Given the description of an element on the screen output the (x, y) to click on. 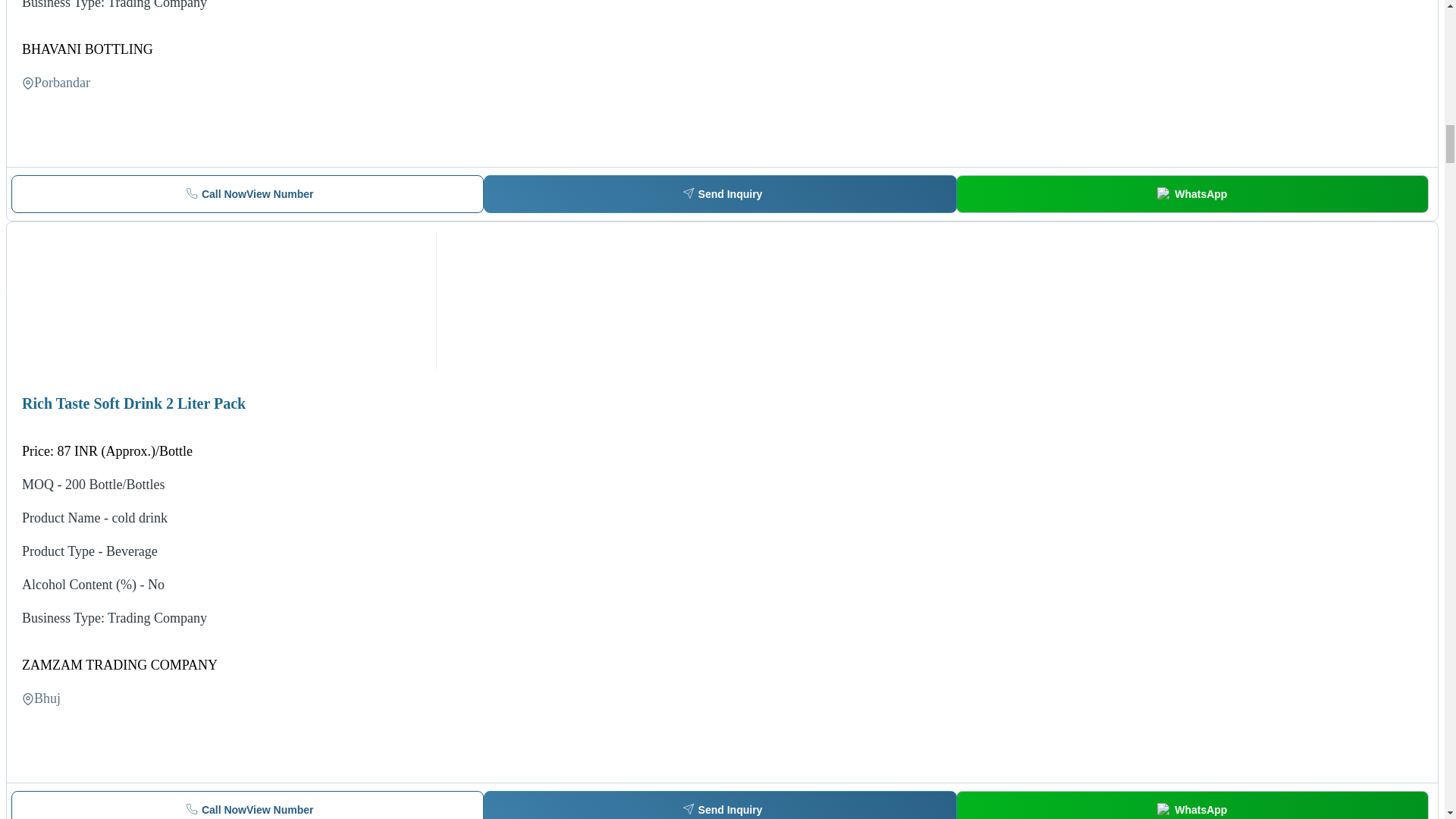
Send Inquiry (719, 805)
BHAVANI BOTTLING (247, 193)
WhatsApp (247, 805)
Send Inquiry (86, 48)
ZAMZAM TRADING COMPANY (1192, 193)
WhatsApp (719, 193)
Rich Taste Soft Drink 2 Liter Pack (118, 664)
